Given the description of an element on the screen output the (x, y) to click on. 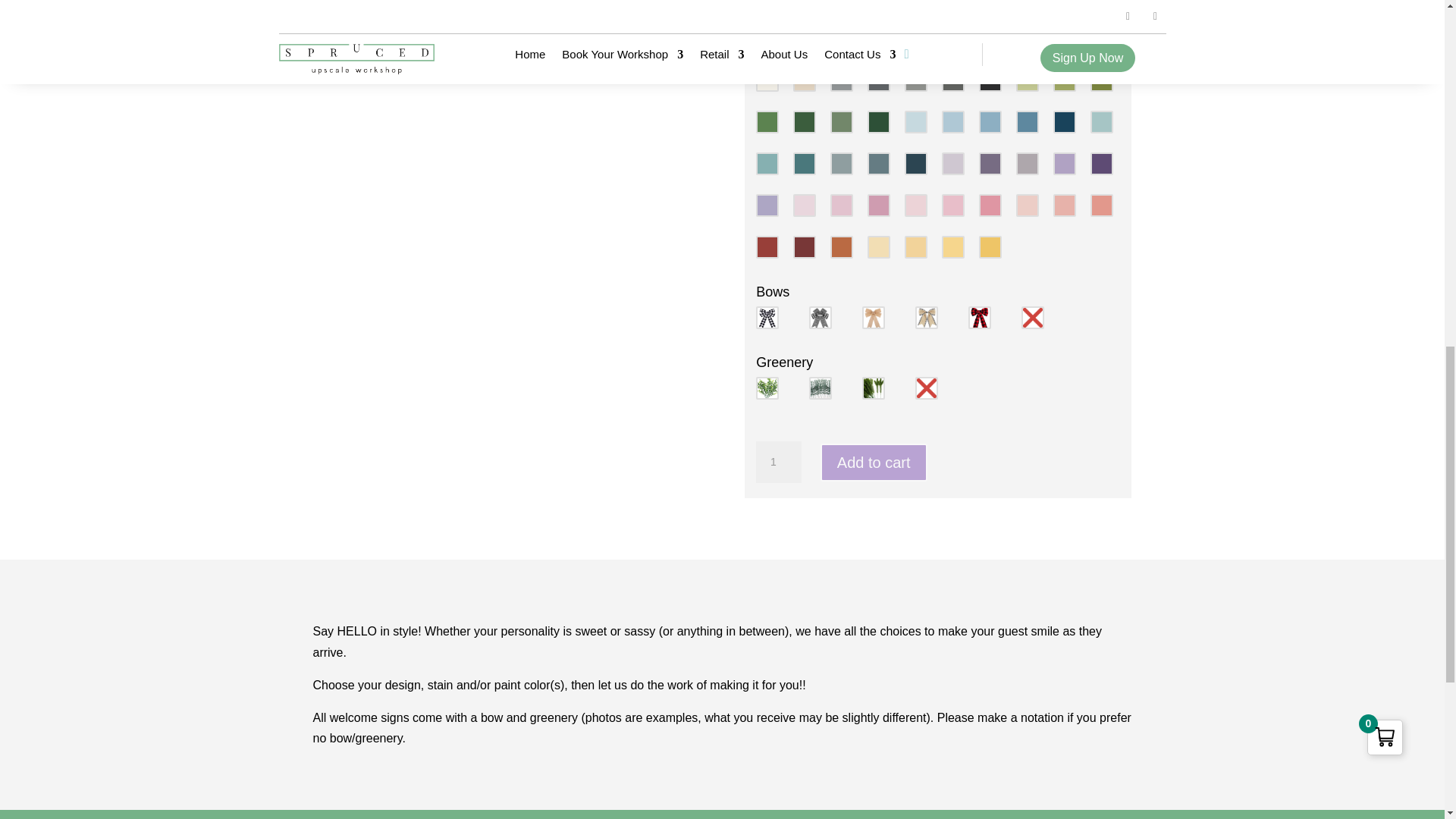
1 (778, 462)
